Given the description of an element on the screen output the (x, y) to click on. 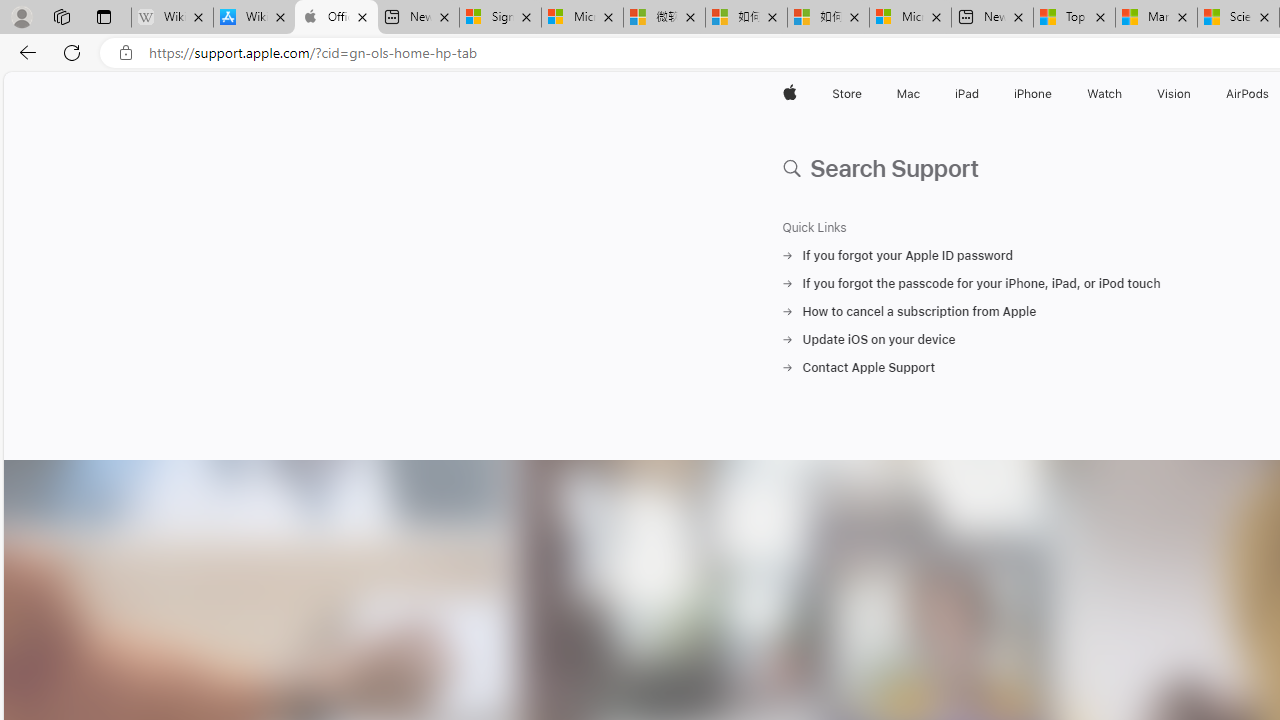
Store menu (864, 93)
Vision menu (1195, 93)
Vision (1174, 93)
iPad (965, 93)
iPad (965, 93)
Vision (1174, 93)
Apple (789, 93)
AirPods (1247, 93)
